Given the description of an element on the screen output the (x, y) to click on. 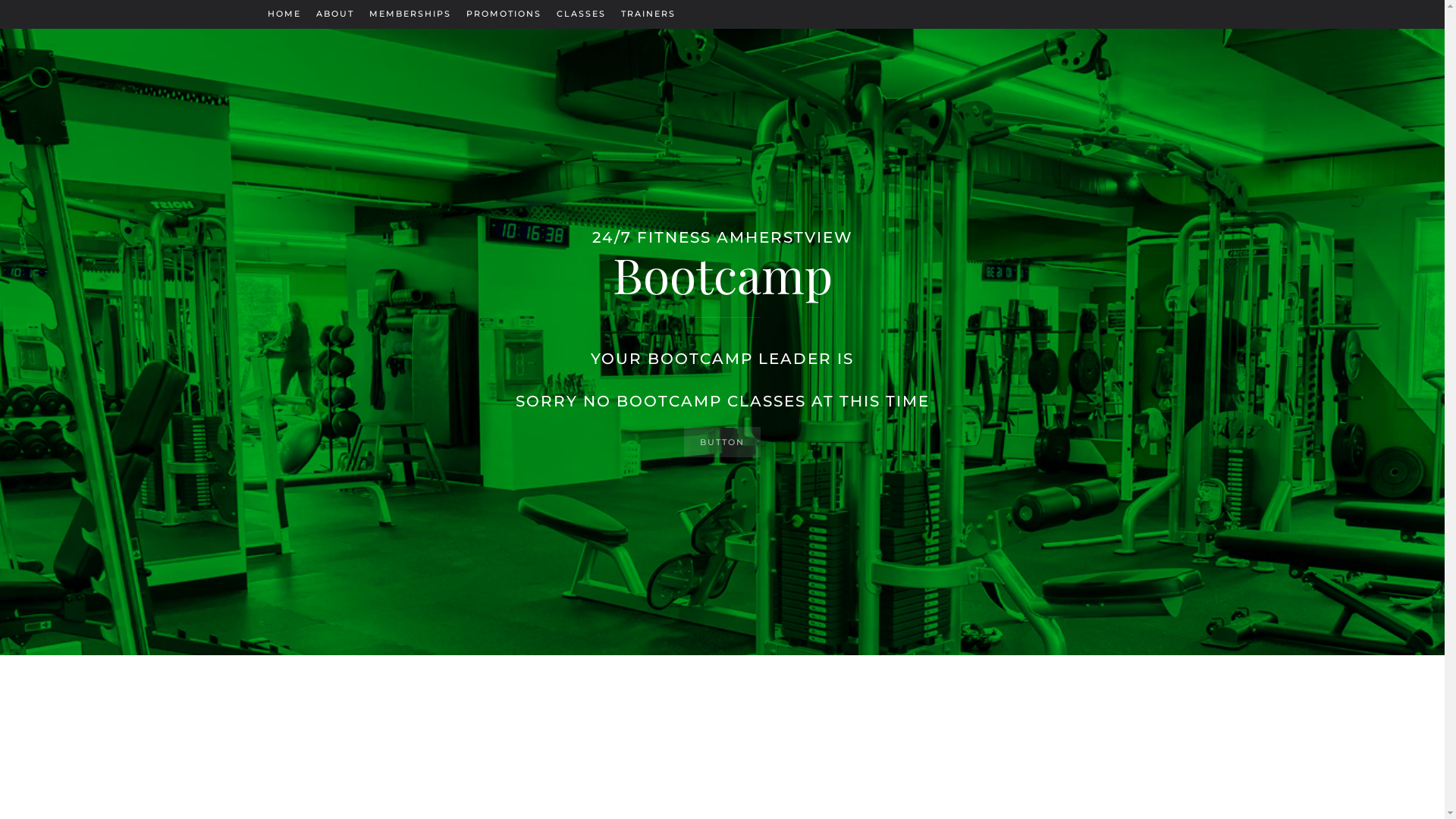
MEMBERSHIPS Element type: text (409, 14)
ABOUT Element type: text (334, 14)
HOME Element type: text (283, 14)
BUTTON Element type: text (722, 441)
PROMOTIONS Element type: text (502, 14)
CLASSES Element type: text (580, 14)
TRAINERS Element type: text (647, 14)
